Given the description of an element on the screen output the (x, y) to click on. 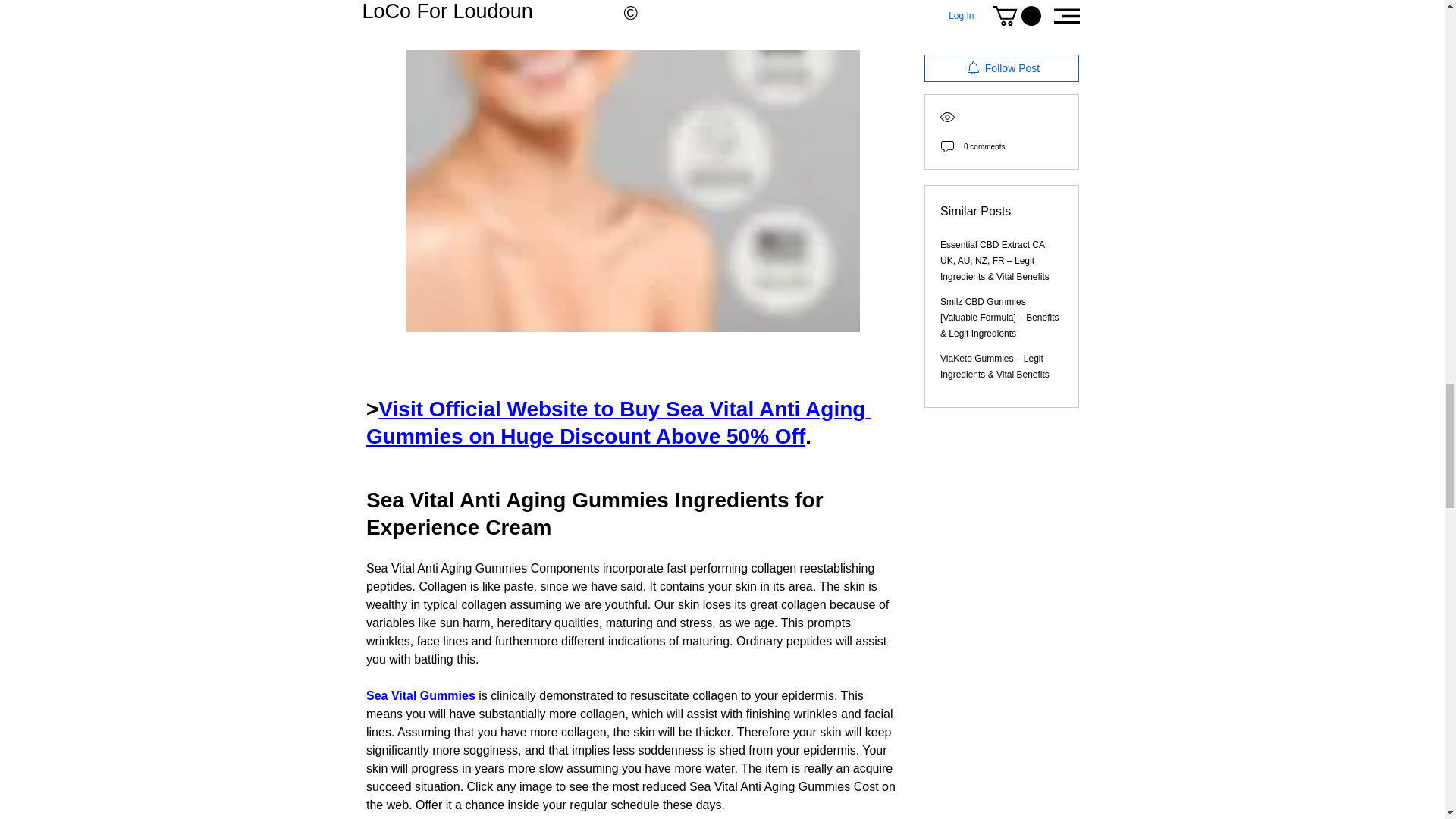
Sea Vital Gummies (421, 695)
